Given the description of an element on the screen output the (x, y) to click on. 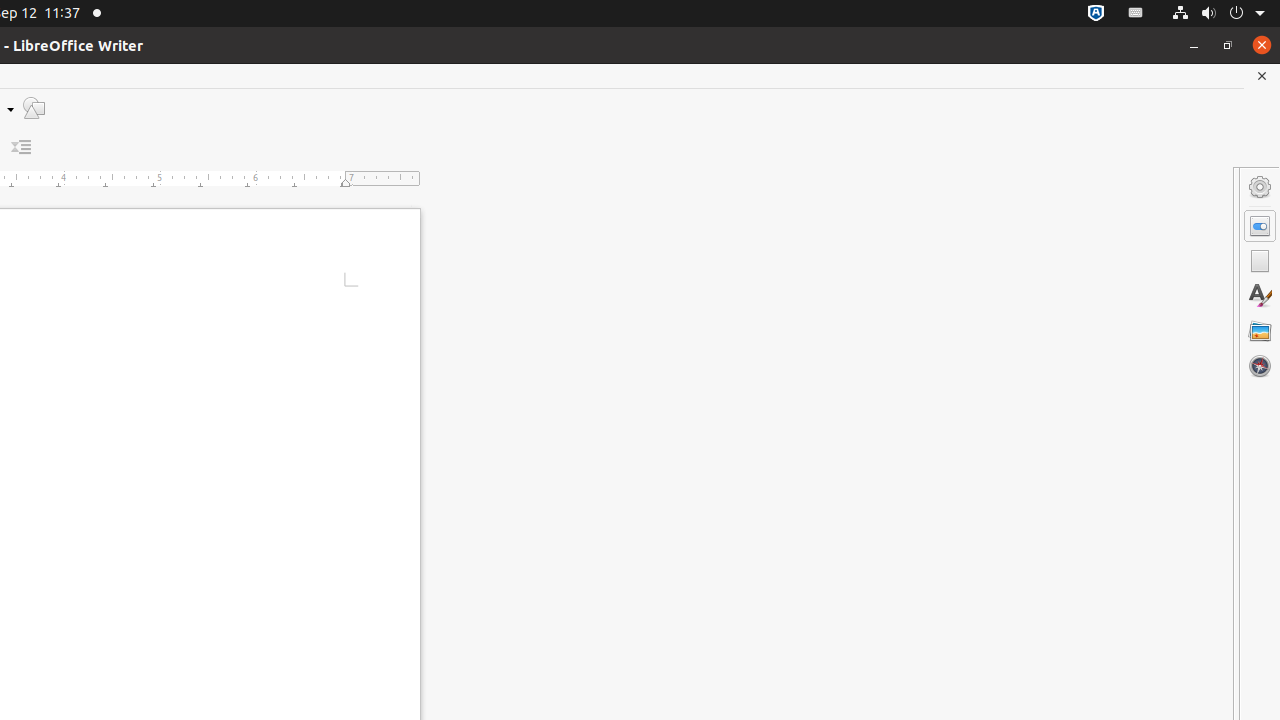
Styles Element type: radio-button (1260, 296)
Page Element type: radio-button (1260, 261)
Navigator Element type: radio-button (1260, 366)
Decrease Element type: push-button (21, 147)
Properties Element type: radio-button (1260, 226)
